Given the description of an element on the screen output the (x, y) to click on. 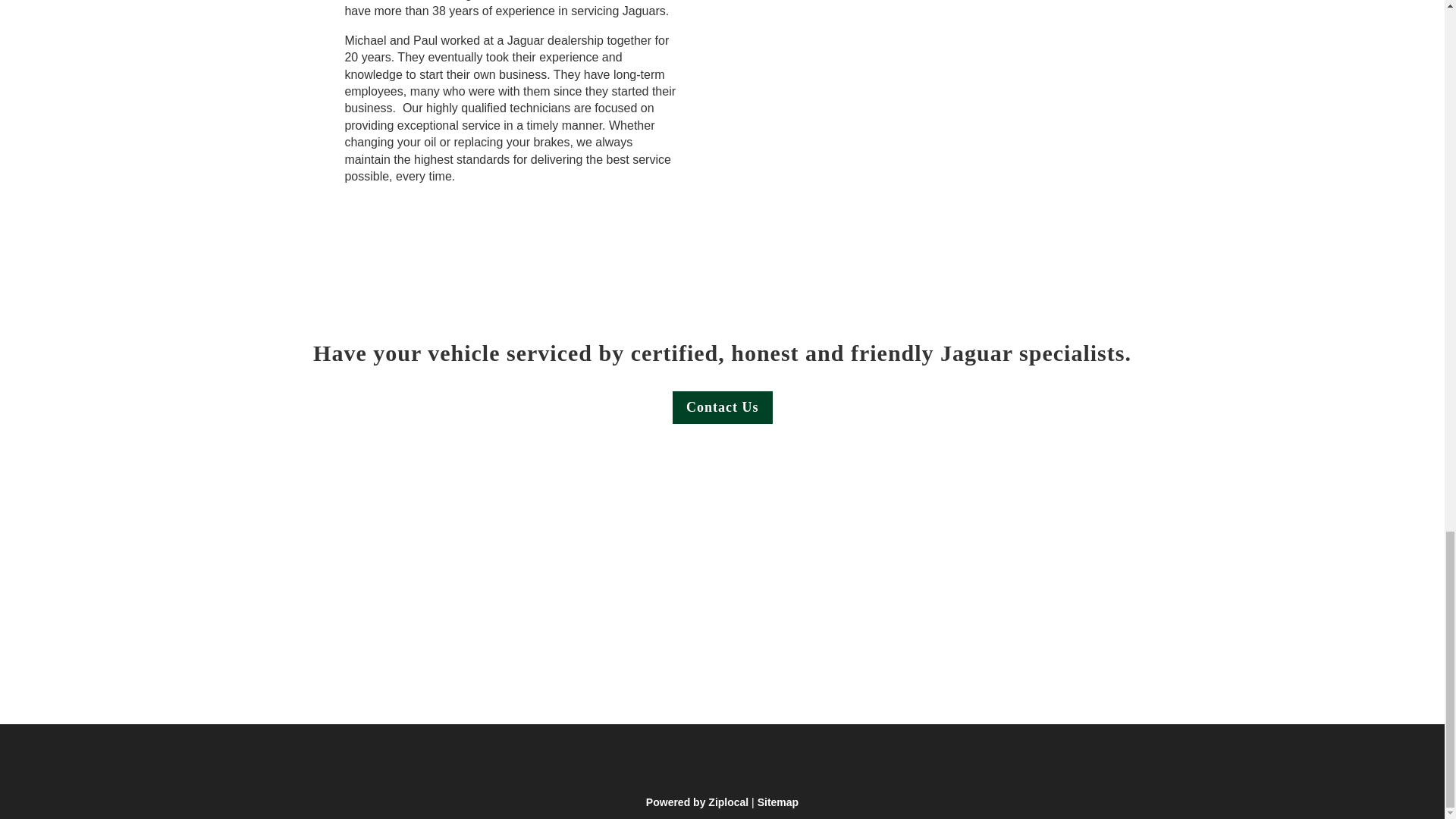
Powered by Ziplocal (697, 802)
301-881-2274 (394, 619)
Contact Us (722, 407)
Sitemap (777, 802)
Pay Here (985, 585)
